Given the description of an element on the screen output the (x, y) to click on. 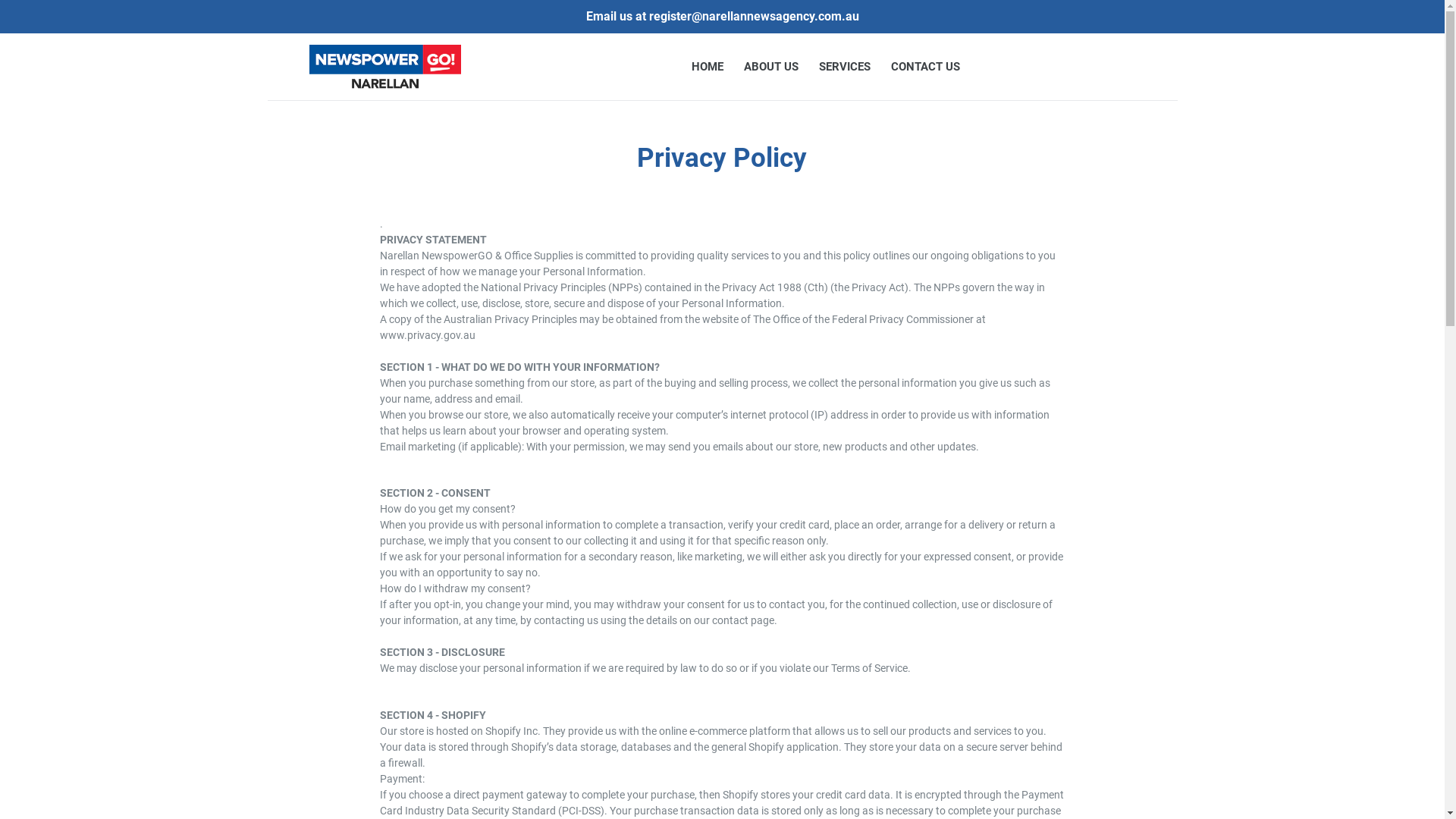
SERVICES Element type: text (844, 67)
CONTACT US Element type: text (925, 67)
HOME Element type: text (707, 67)
ABOUT US Element type: text (770, 67)
